Given the description of an element on the screen output the (x, y) to click on. 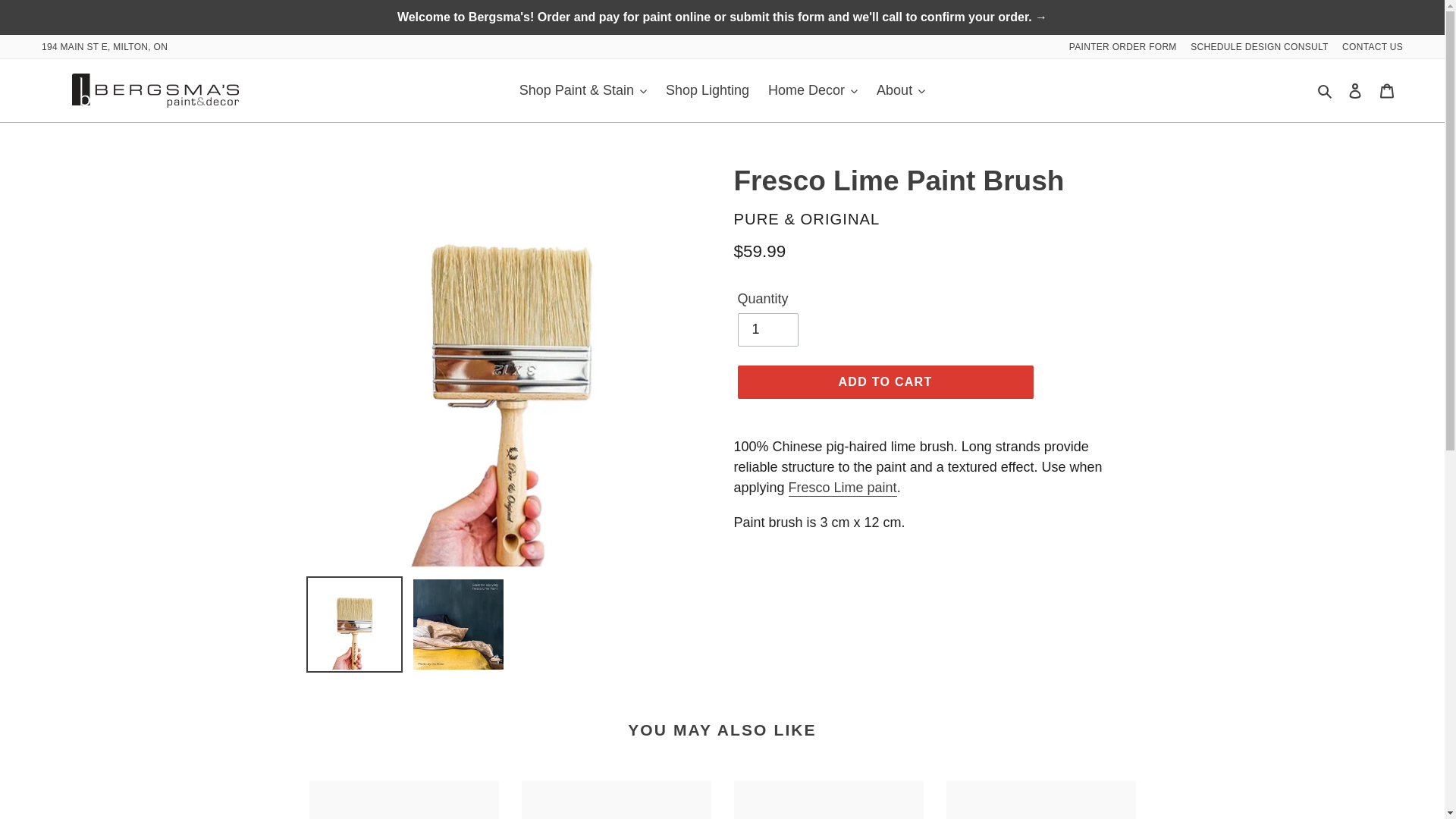
CONTACT US (1366, 46)
SCHEDULE DESIGN CONSULT (1254, 46)
1 (766, 329)
PAINTER ORDER FORM (1118, 46)
